Given the description of an element on the screen output the (x, y) to click on. 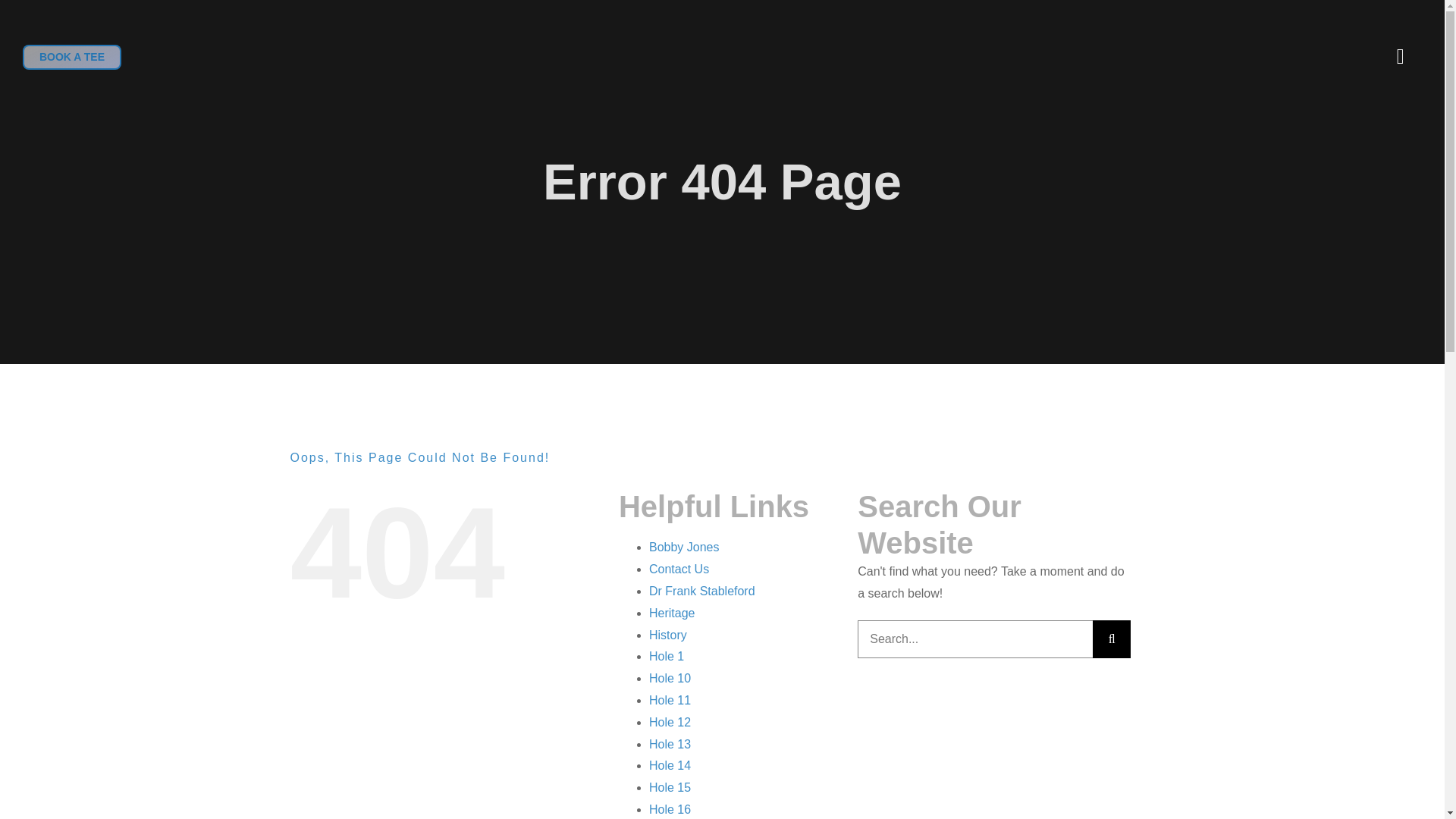
Hole 15 (669, 787)
Hole 13 (669, 744)
Hole 10 (669, 677)
History (668, 634)
BOOK A TEE (71, 56)
Contact Us (679, 568)
Hole 12 (669, 721)
Hole 11 (669, 699)
Hole 1 (666, 656)
Dr Frank Stableford (702, 590)
Heritage (671, 612)
Hole 16 (669, 809)
Bobby Jones (684, 546)
Hole 14 (669, 765)
